Given the description of an element on the screen output the (x, y) to click on. 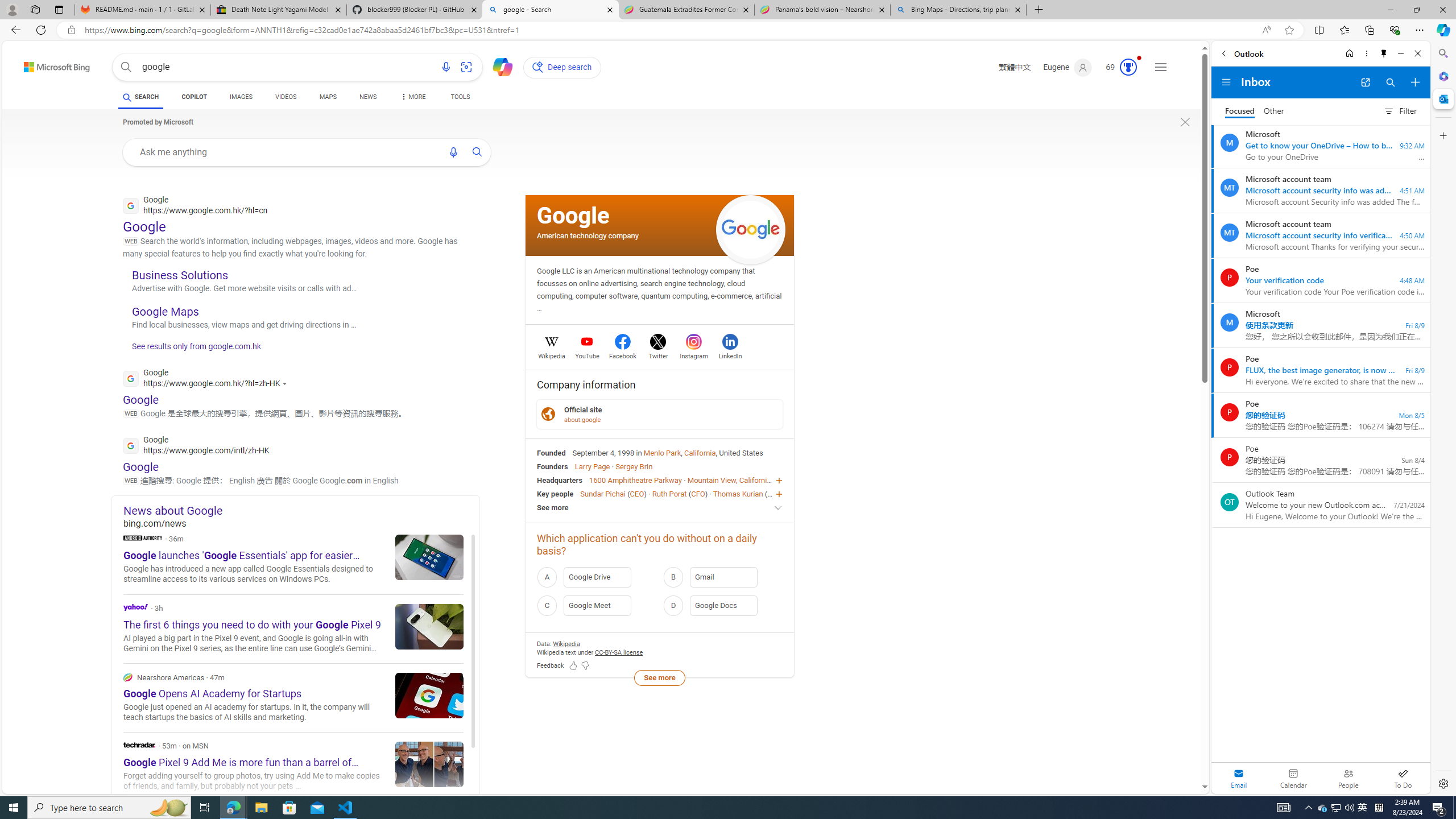
Settings (1442, 783)
Address and search bar (669, 29)
To Do (1402, 777)
Feedback Dislike (584, 665)
Personal Profile (12, 9)
Feedback Like (573, 665)
Close Outlook pane (1442, 98)
Filter (1399, 110)
B Gmail (722, 576)
Headquarters (559, 479)
